Given the description of an element on the screen output the (x, y) to click on. 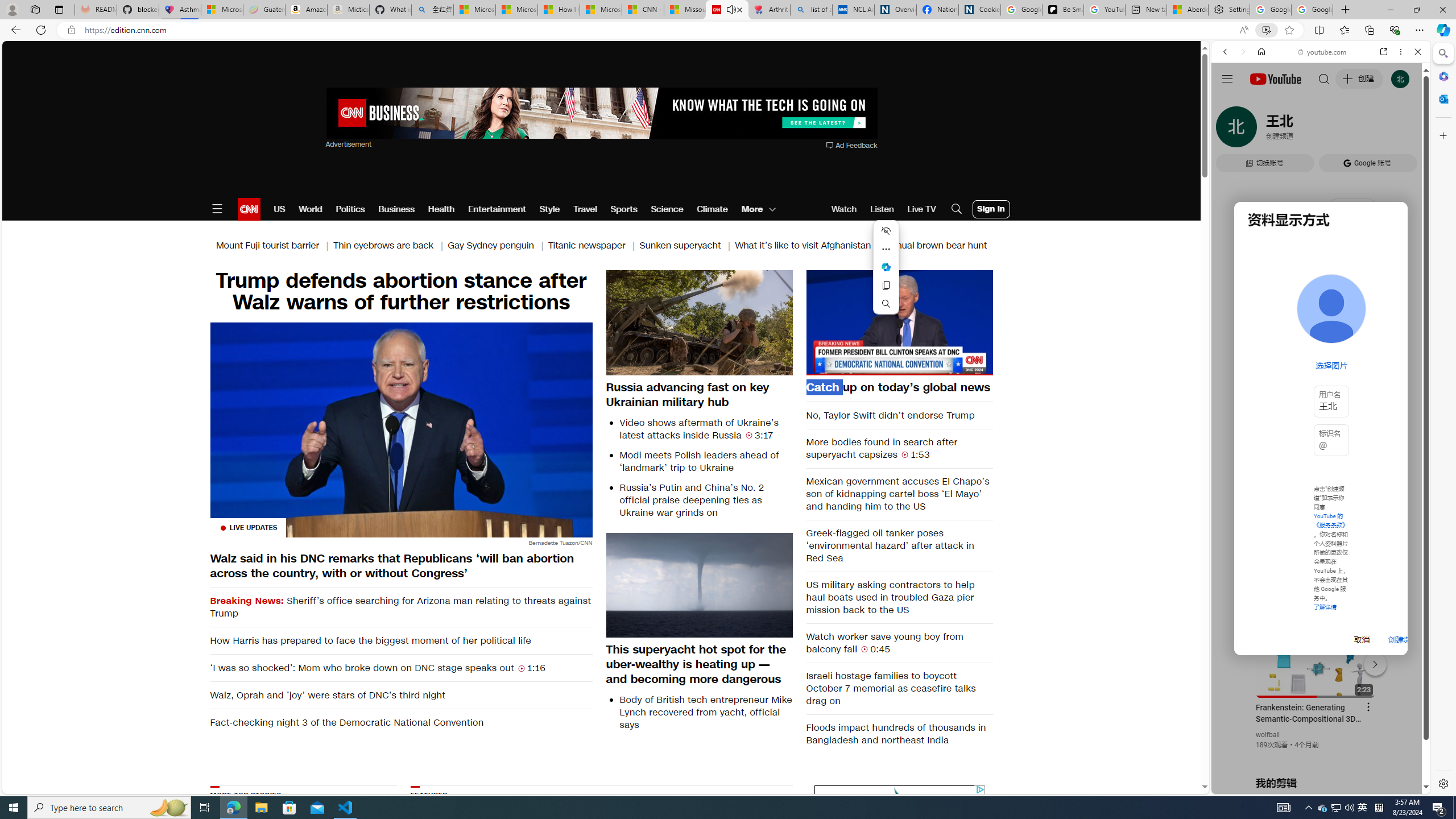
CNN logo (248, 209)
US (279, 209)
